Given the description of an element on the screen output the (x, y) to click on. 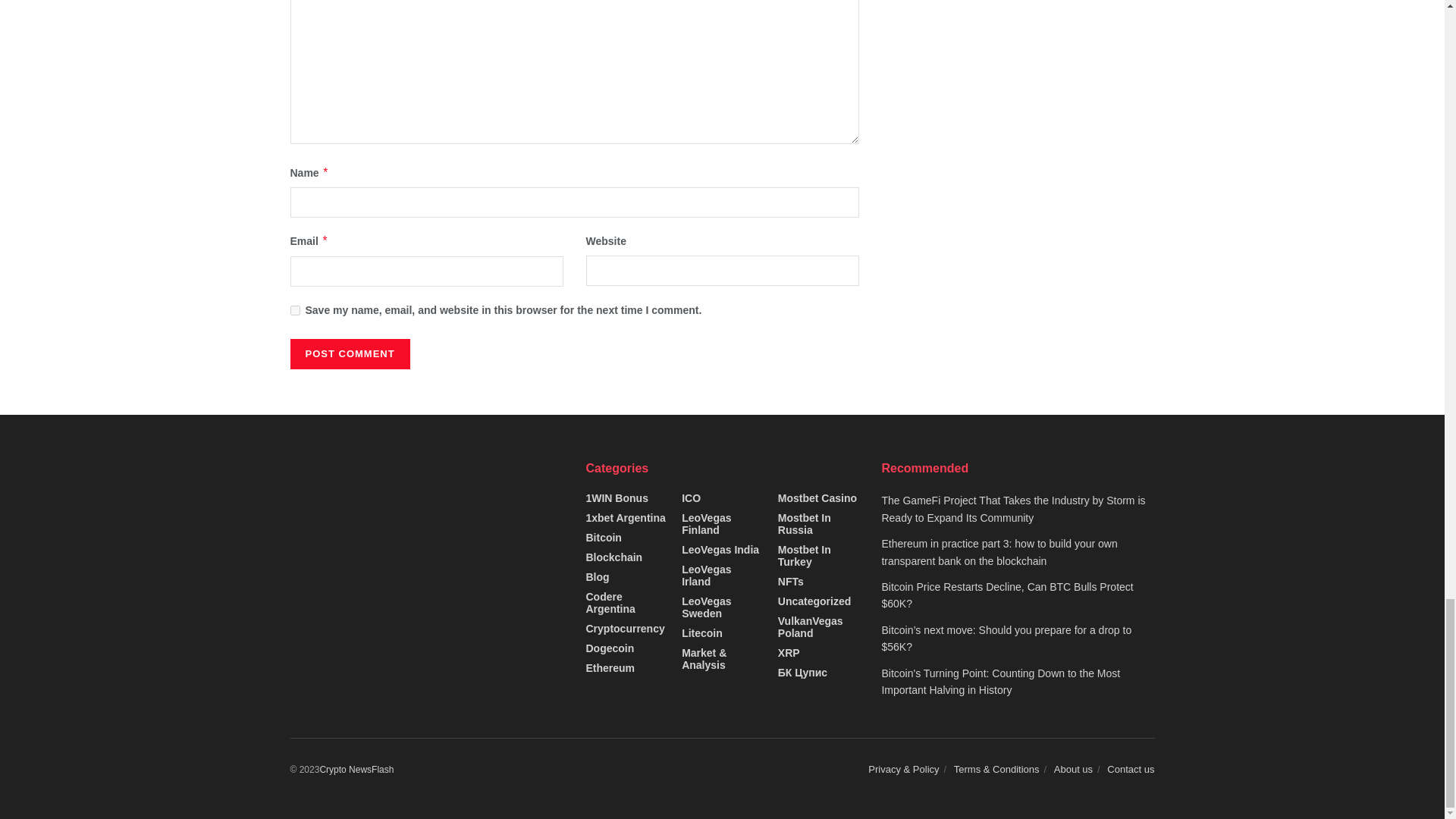
Post Comment (349, 354)
Premium news  (355, 769)
yes (294, 310)
